Given the description of an element on the screen output the (x, y) to click on. 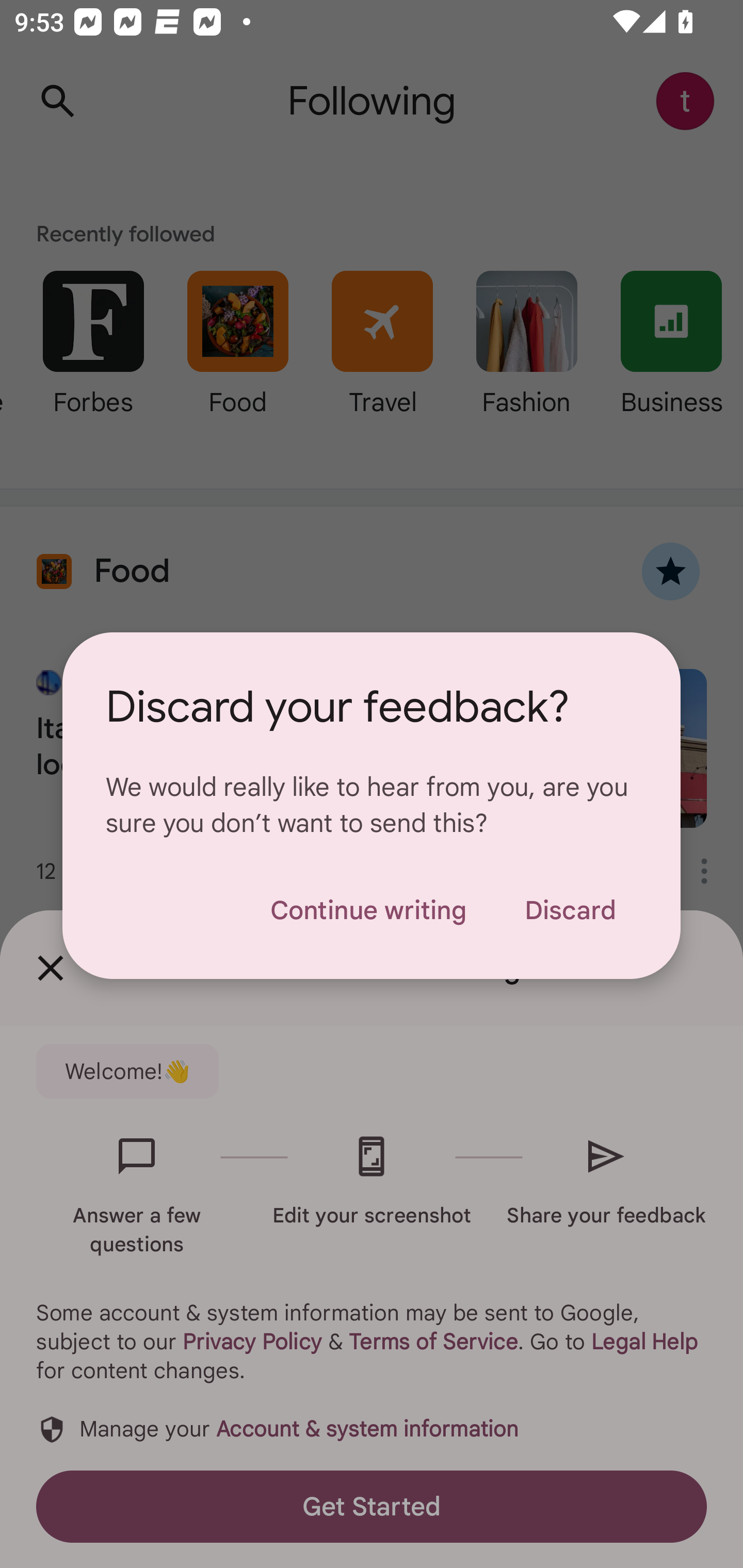
Continue writing (368, 910)
Discard (569, 910)
